Given the description of an element on the screen output the (x, y) to click on. 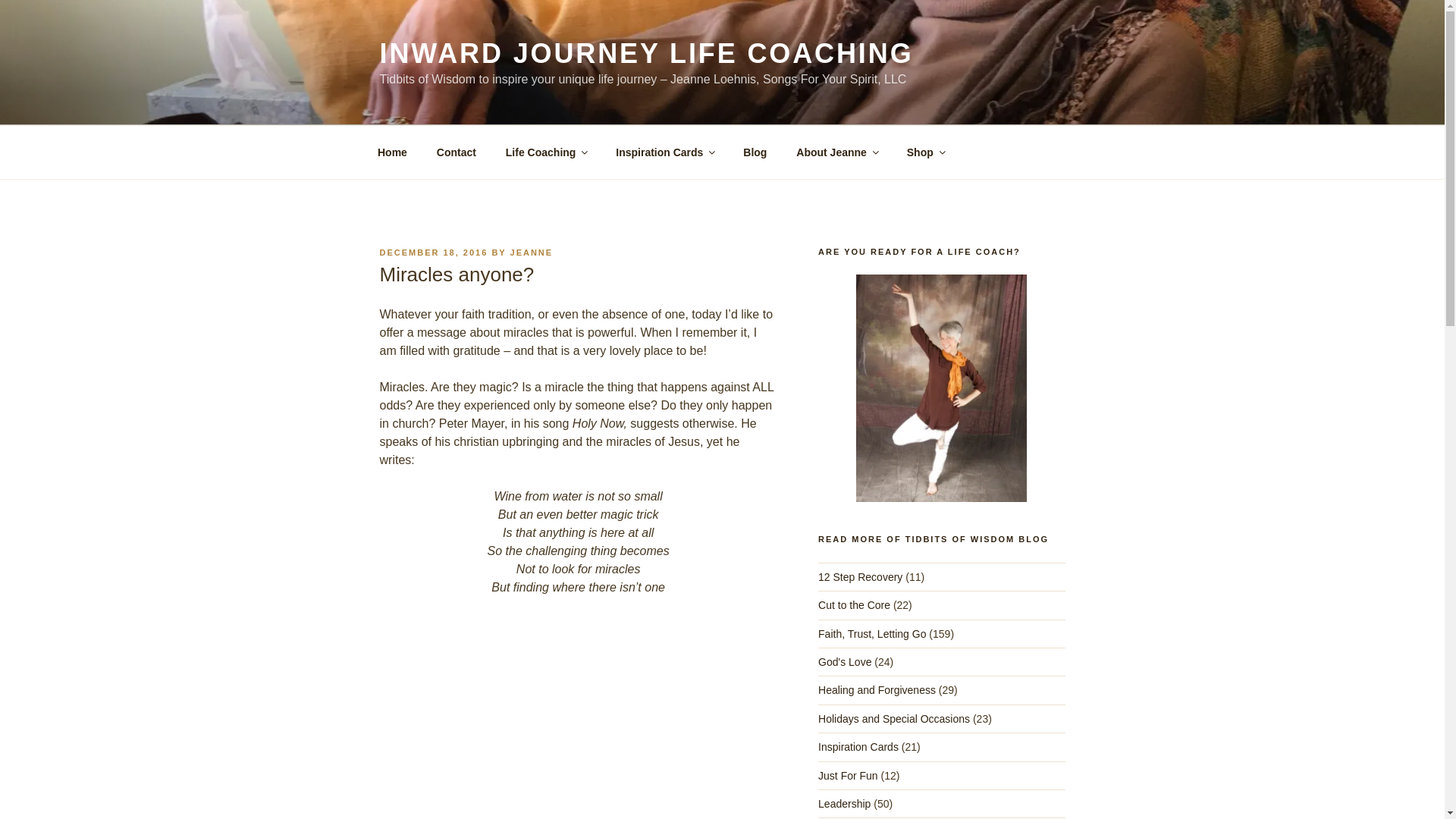
Shop (924, 151)
Home (392, 151)
Life Coaching (545, 151)
Blog (755, 151)
JEANNE (532, 252)
DECEMBER 18, 2016 (432, 252)
INWARD JOURNEY LIFE COACHING (645, 52)
Inspiration Cards (664, 151)
About Jeanne (837, 151)
Contact (456, 151)
